Given the description of an element on the screen output the (x, y) to click on. 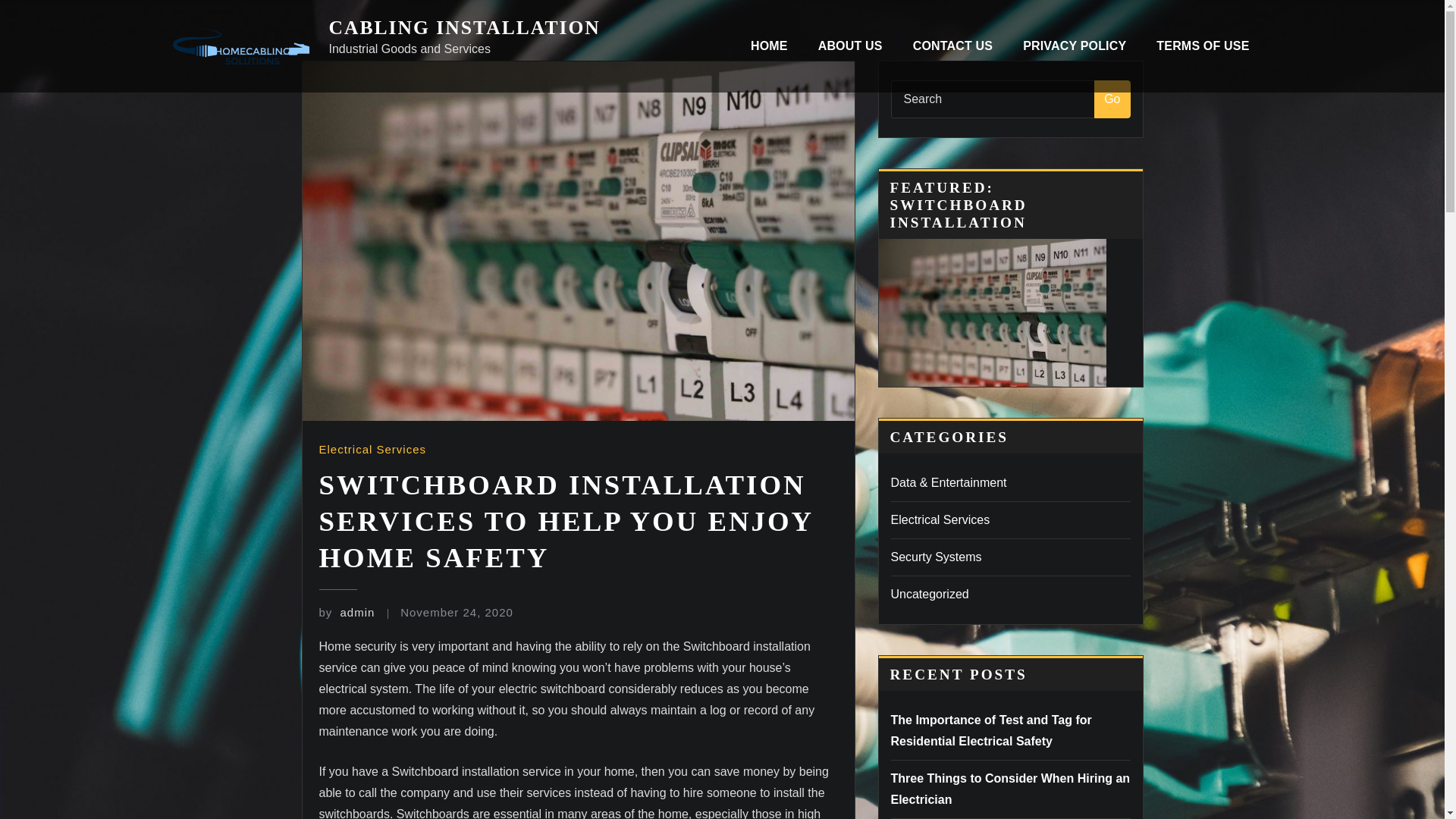
Securty Systems Element type: text (935, 556)
November 24, 2020 Element type: text (456, 611)
by admin Element type: text (346, 611)
ABOUT US Element type: text (850, 46)
Electrical Services Element type: text (939, 519)
Data & Entertainment Element type: text (948, 482)
CONTACT US Element type: text (952, 46)
PRIVACY POLICY Element type: text (1074, 46)
HOME Element type: text (769, 46)
TERMS OF USE Element type: text (1202, 46)
Three Things to Consider When Hiring an Electrician Element type: text (1009, 788)
CABLING INSTALLATION Element type: text (464, 27)
Electrical Services Element type: text (372, 448)
Uncategorized Element type: text (929, 593)
Go Element type: text (1111, 99)
